Given the description of an element on the screen output the (x, y) to click on. 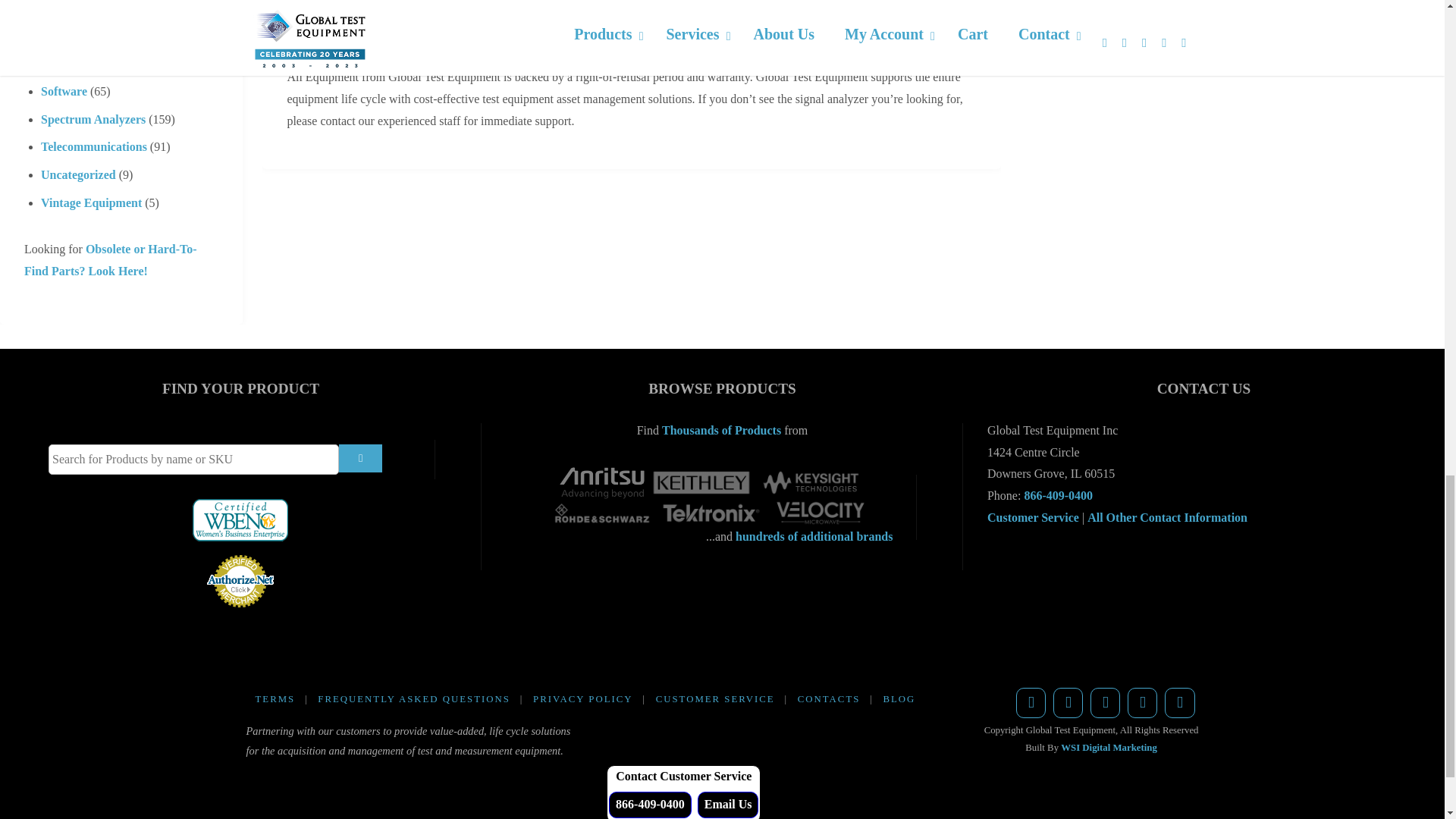
Facebook (1030, 702)
Twitter (1067, 702)
